Given the description of an element on the screen output the (x, y) to click on. 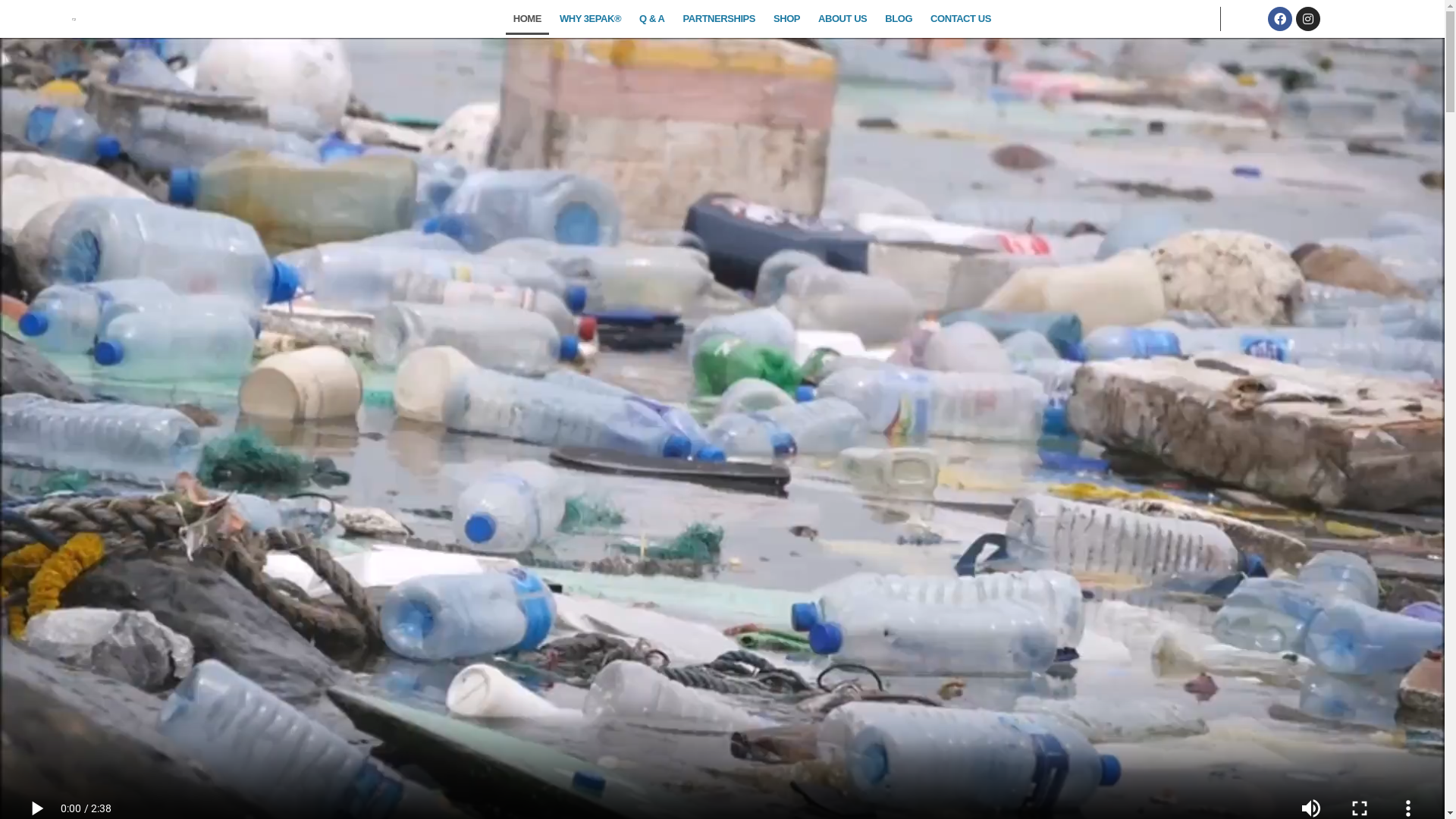
HOME Element type: text (527, 18)
CONTACT US Element type: text (960, 18)
ABOUT US Element type: text (842, 18)
Q & A Element type: text (651, 18)
PARTNERSHIPS Element type: text (718, 18)
SHOP Element type: text (786, 18)
BLOG Element type: text (898, 18)
